Given the description of an element on the screen output the (x, y) to click on. 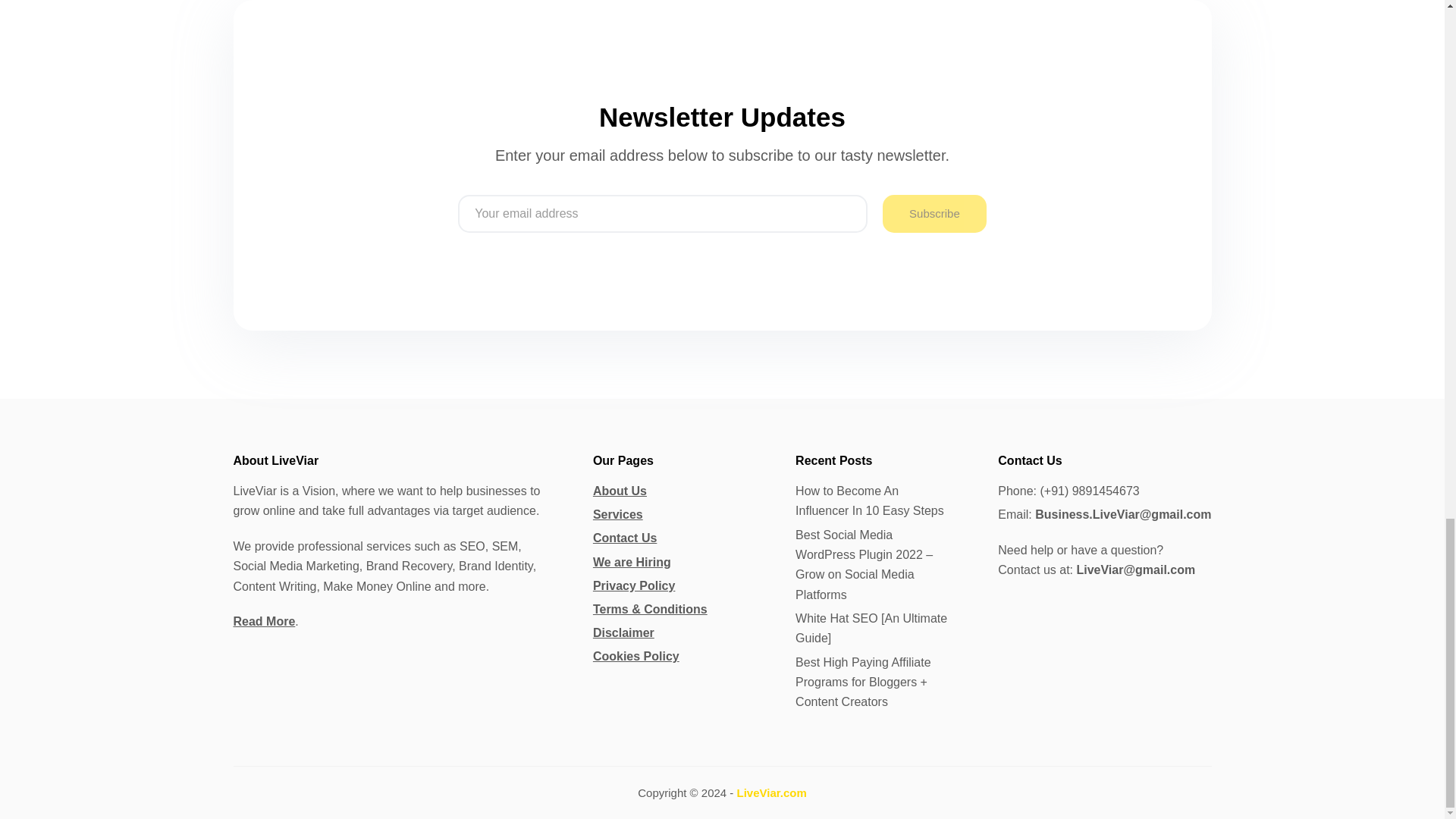
How to Become An Influencer In 10 Easy Steps (873, 501)
About Us (619, 490)
Contact Us (624, 537)
Privacy Policy (633, 585)
Disclaimer (622, 632)
We are Hiring (631, 562)
Cookies Policy (635, 656)
Services (617, 513)
Subscribe (934, 213)
Read More (263, 621)
